Given the description of an element on the screen output the (x, y) to click on. 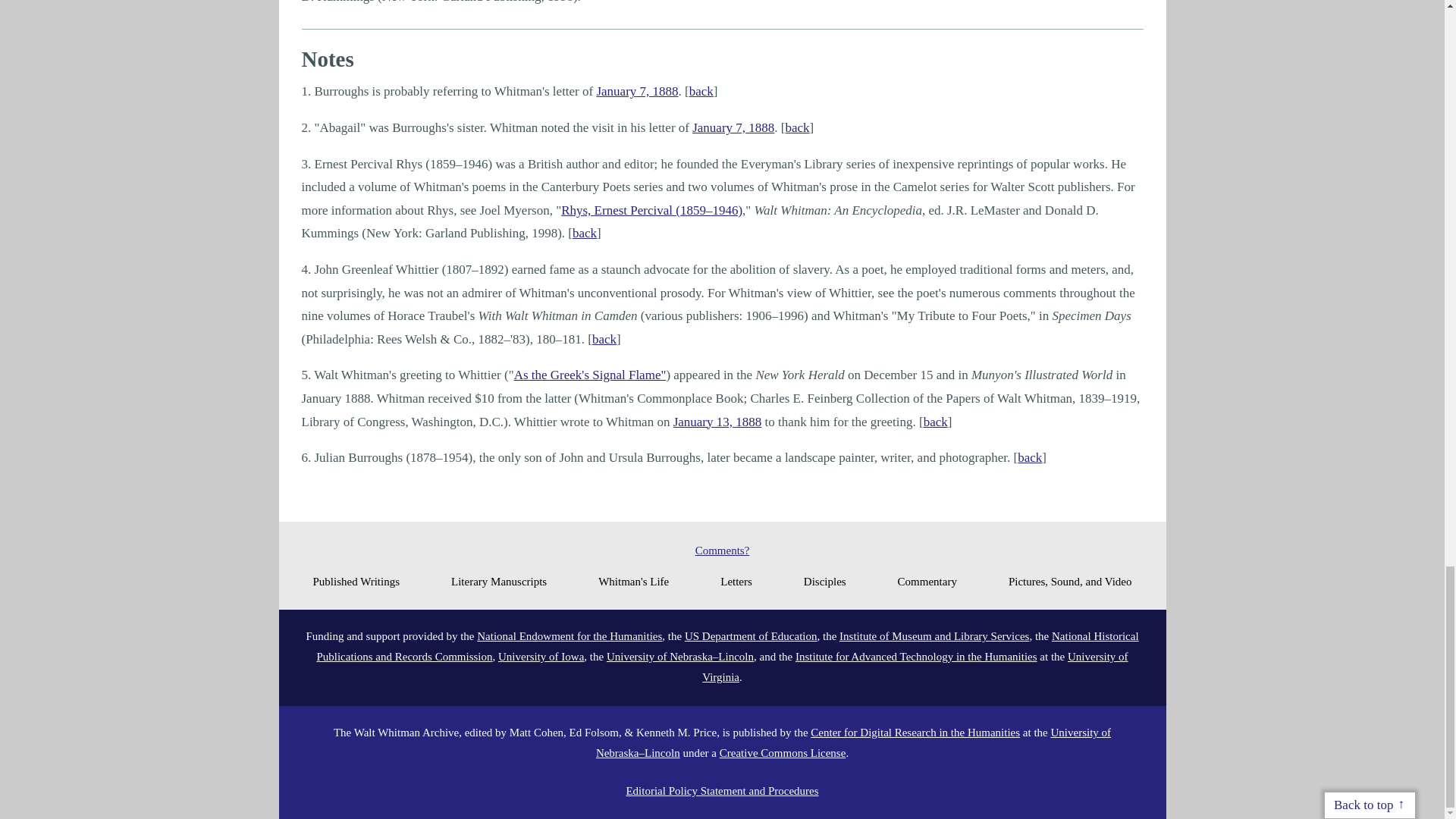
back (603, 339)
January 7, 1888 (733, 127)
back (700, 91)
back (935, 421)
January 7, 1888 (636, 91)
January 13, 1888 (716, 421)
back (584, 233)
As the Greek's Signal Flame" (589, 374)
back (797, 127)
